Given the description of an element on the screen output the (x, y) to click on. 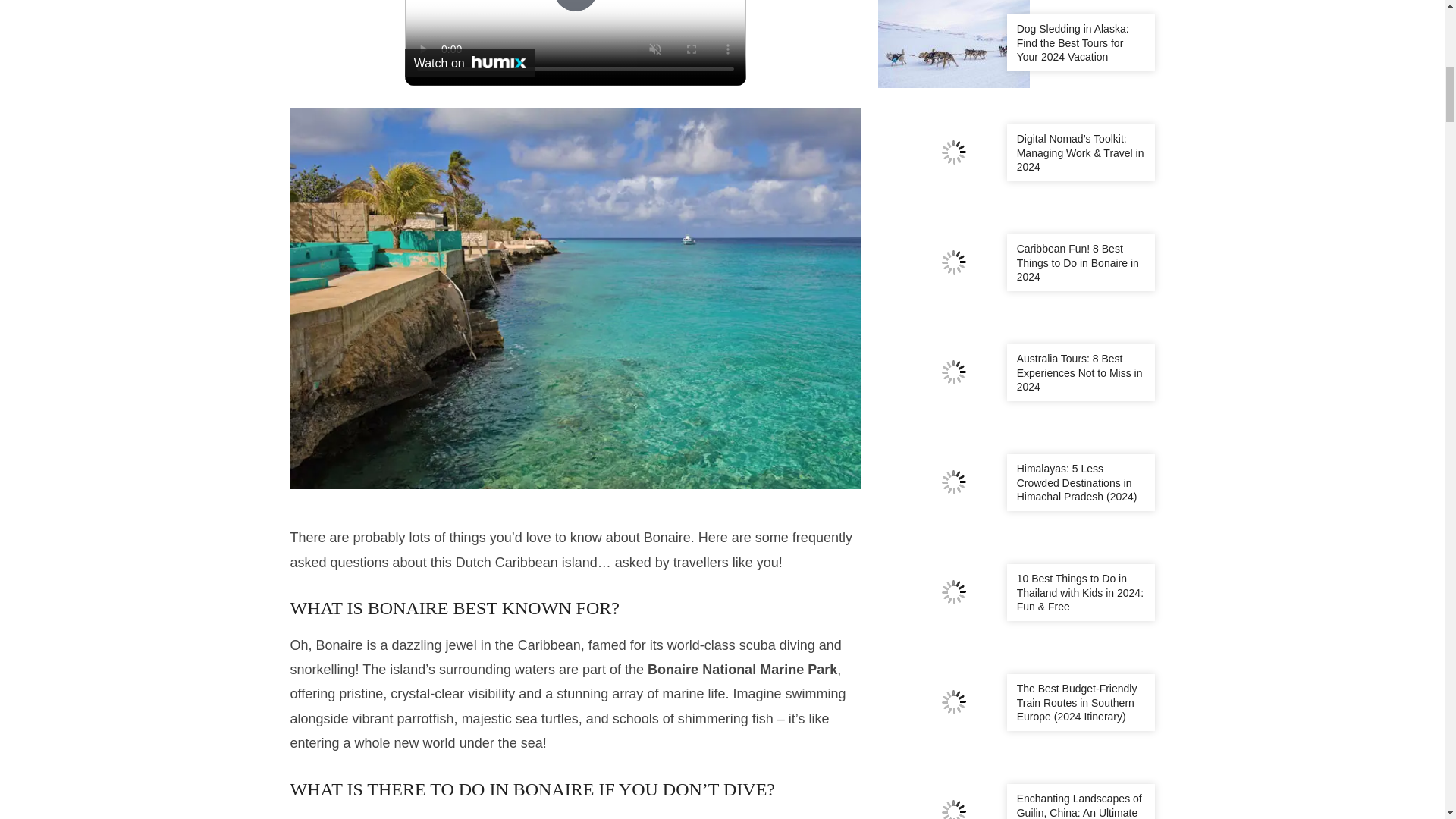
Play Video (575, 6)
Play Video (575, 6)
Watch on (469, 62)
